Given the description of an element on the screen output the (x, y) to click on. 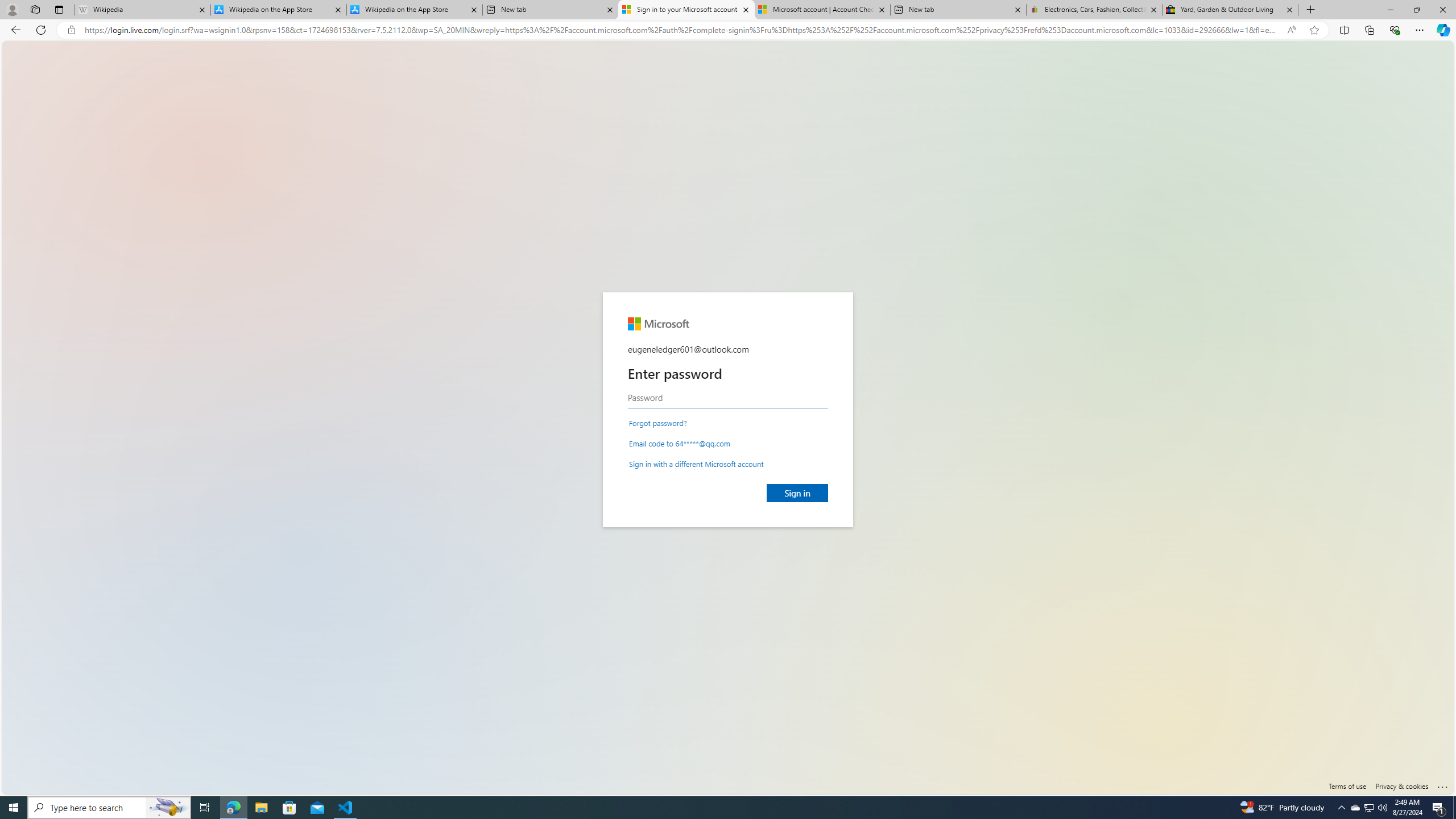
Click here for troubleshooting information (1442, 784)
Enter the password for eugeneledger601@outlook.com (727, 397)
Privacy & cookies (1401, 785)
